Given the description of an element on the screen output the (x, y) to click on. 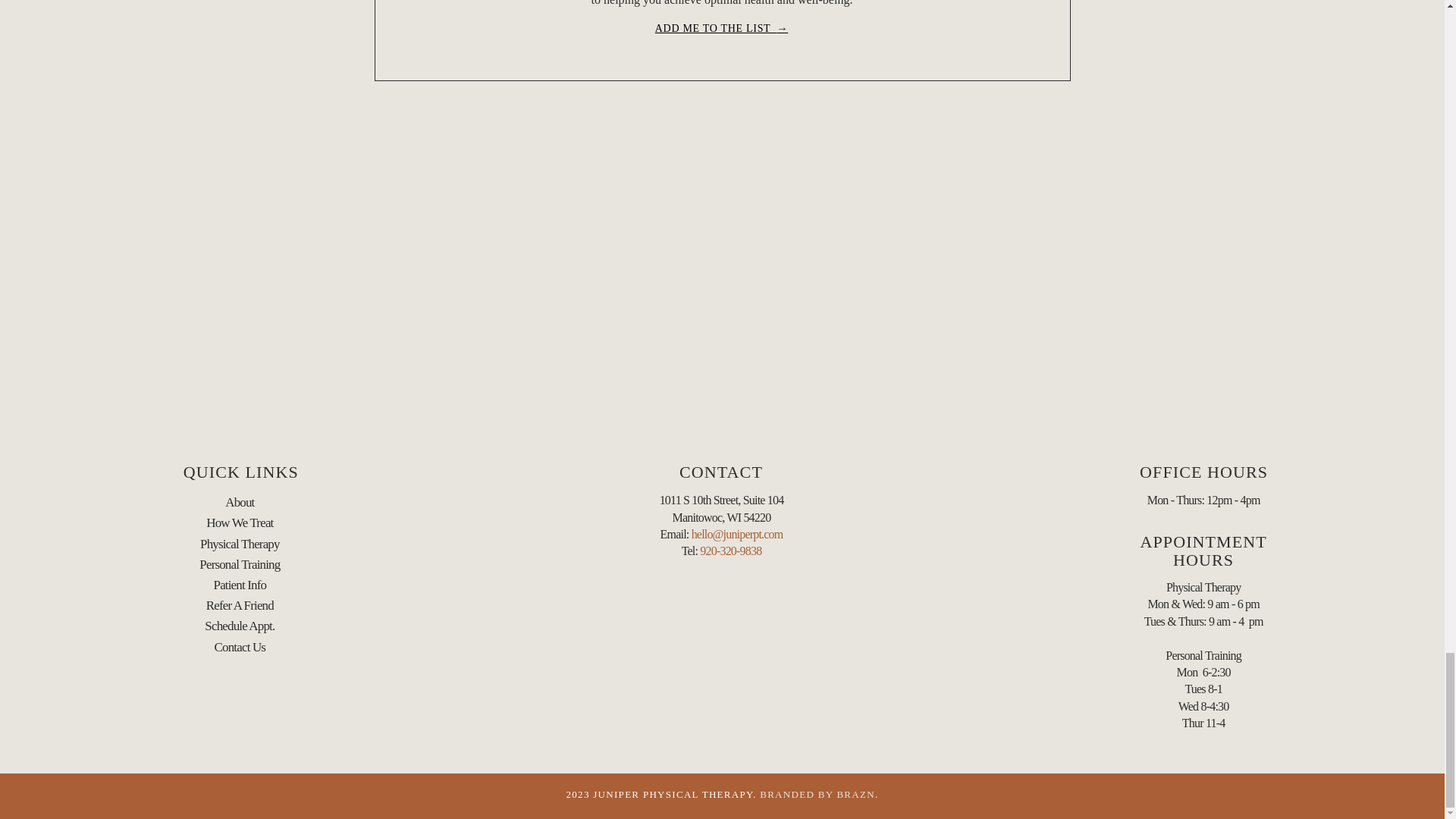
About (239, 502)
